Given the description of an element on the screen output the (x, y) to click on. 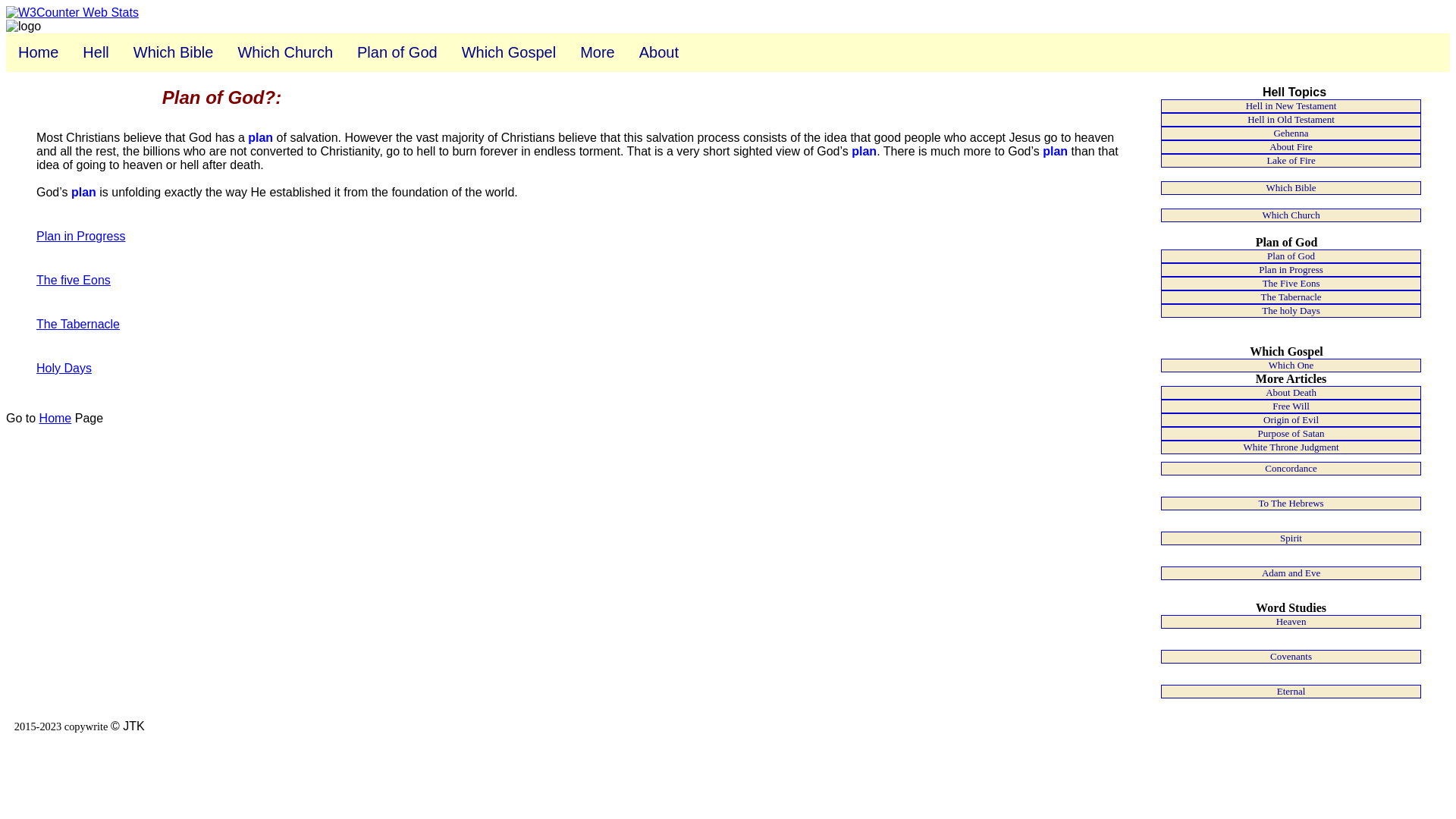
Which Church Element type: text (285, 52)
Which Bible Element type: text (173, 52)
Holy Days Element type: text (63, 367)
Lake of Fire Element type: text (1291, 160)
Which Church Element type: text (1291, 215)
The Tabernacle Element type: text (1291, 297)
The five Eons Element type: text (73, 279)
Adam and Eve Element type: text (1291, 573)
The Five Eons Element type: text (1291, 283)
Plan of God Element type: text (1291, 256)
The holy Days Element type: text (1291, 310)
Gehenna Element type: text (1291, 133)
Hell Element type: text (95, 52)
White Throne Judgment Element type: text (1291, 447)
Spirit Element type: text (1291, 538)
Plan in Progress Element type: text (80, 235)
Concordance Element type: text (1291, 468)
Plan in Progress Element type: text (1291, 269)
About Fire Element type: text (1291, 146)
Purpose of Satan Element type: text (1291, 433)
Eternal Element type: text (1291, 691)
About Death Element type: text (1291, 392)
Origin of Evil Element type: text (1291, 419)
About Element type: text (658, 52)
Covenants Element type: text (1291, 656)
Which Gospel Element type: text (508, 52)
The Tabernacle Element type: text (77, 323)
To The Hebrews Element type: text (1291, 503)
Hell in New Testament Element type: text (1291, 105)
Free Will Element type: text (1291, 406)
Plan of God Element type: text (397, 52)
Home Element type: text (38, 52)
Which One Element type: text (1291, 365)
Hell in Old Testament Element type: text (1291, 119)
Heaven Element type: text (1291, 621)
Home Element type: text (55, 417)
More Element type: text (597, 52)
Which Bible Element type: text (1291, 187)
